Given the description of an element on the screen output the (x, y) to click on. 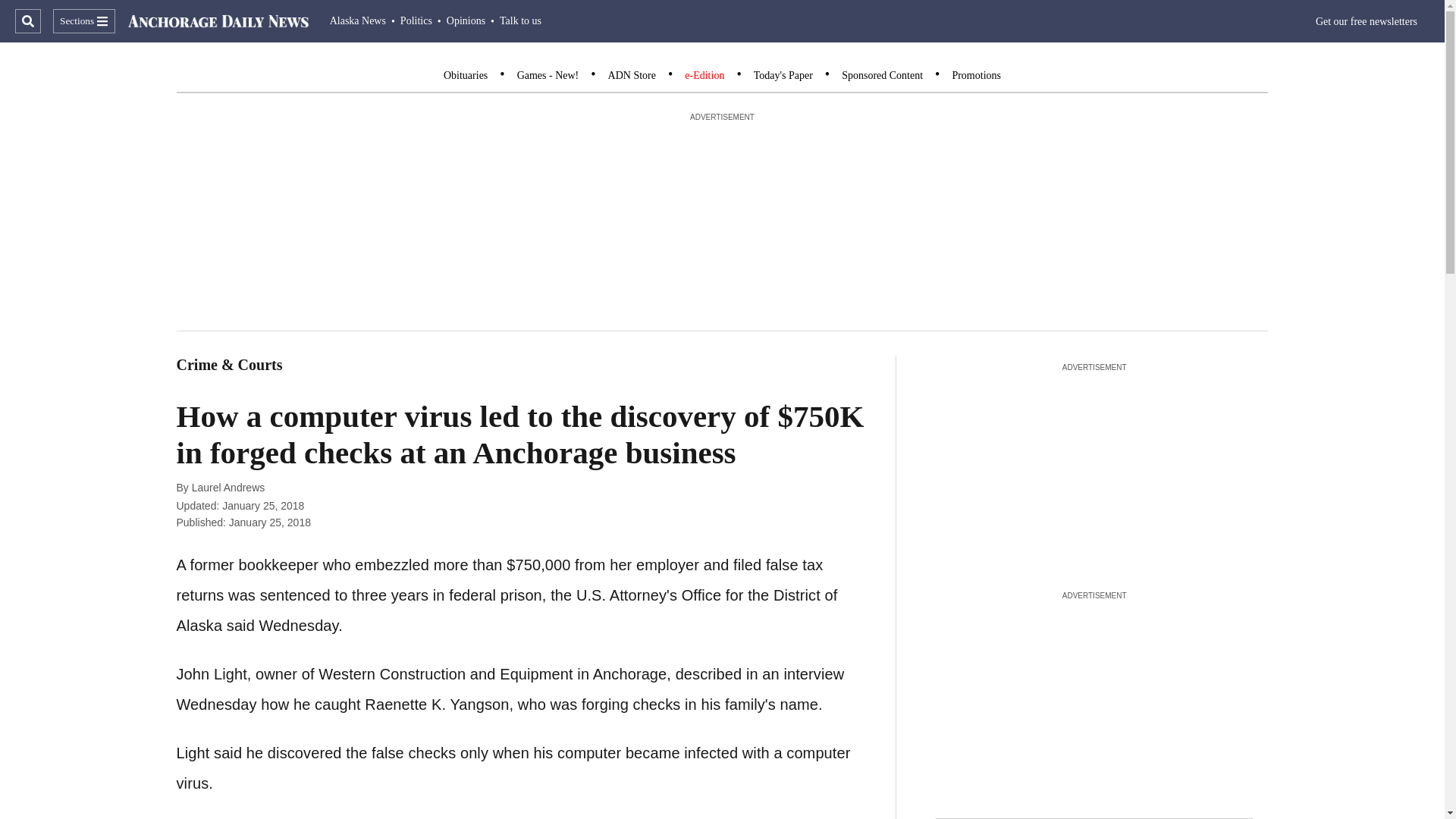
ADN Logo (218, 20)
Get our free newsletters (1366, 21)
Sections (83, 21)
Opinions (465, 20)
Politics (416, 20)
Alaska News (357, 20)
